Given the description of an element on the screen output the (x, y) to click on. 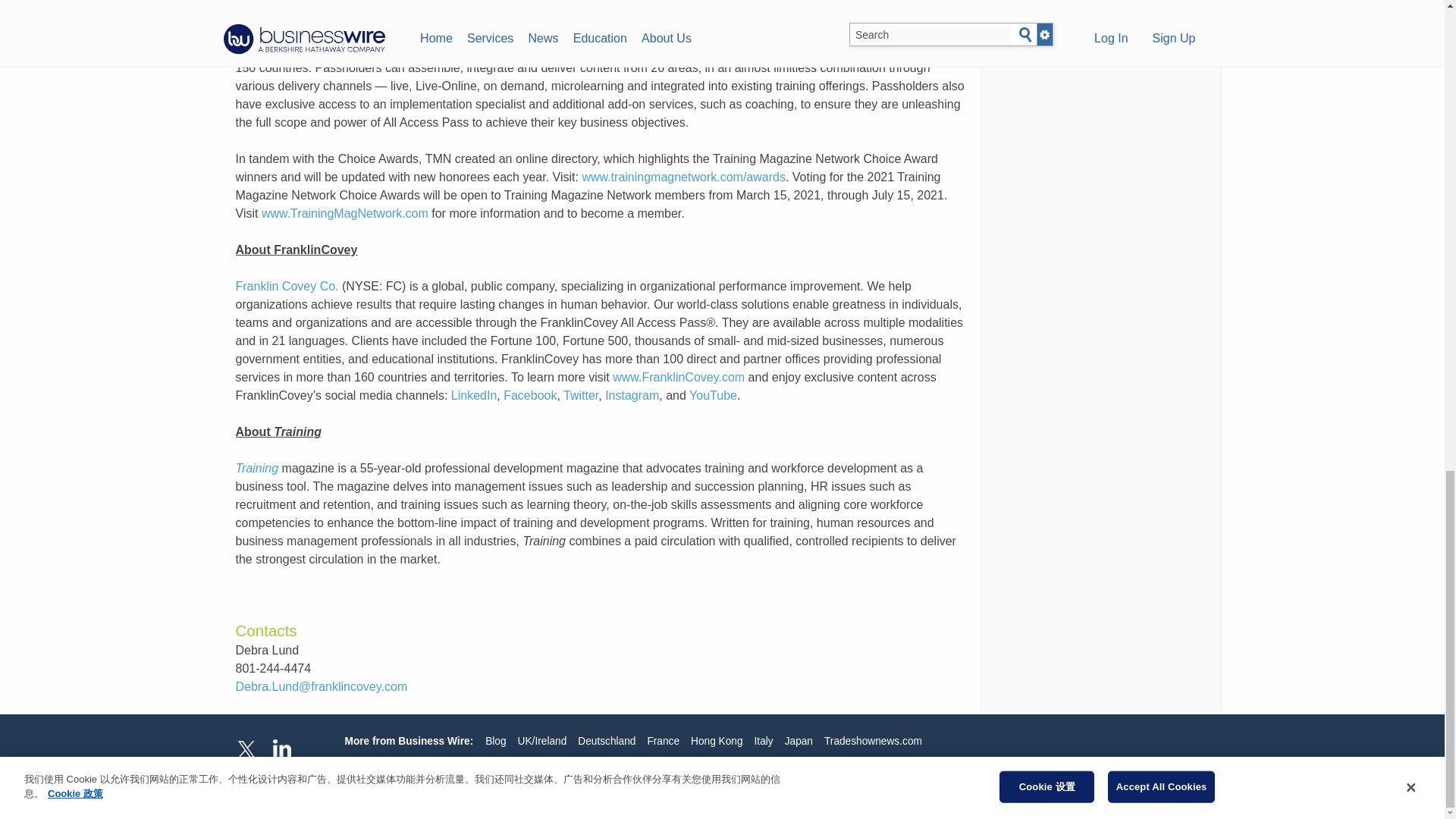
Instagram (632, 395)
Training (256, 468)
Franklin Covey Co. (285, 286)
Twitter (580, 395)
Facebook (529, 395)
LinkedIn (474, 395)
here (629, 0)
www.FranklinCovey.com (678, 377)
www.TrainingMagNetwork.com (345, 213)
YouTube (712, 395)
